Given the description of an element on the screen output the (x, y) to click on. 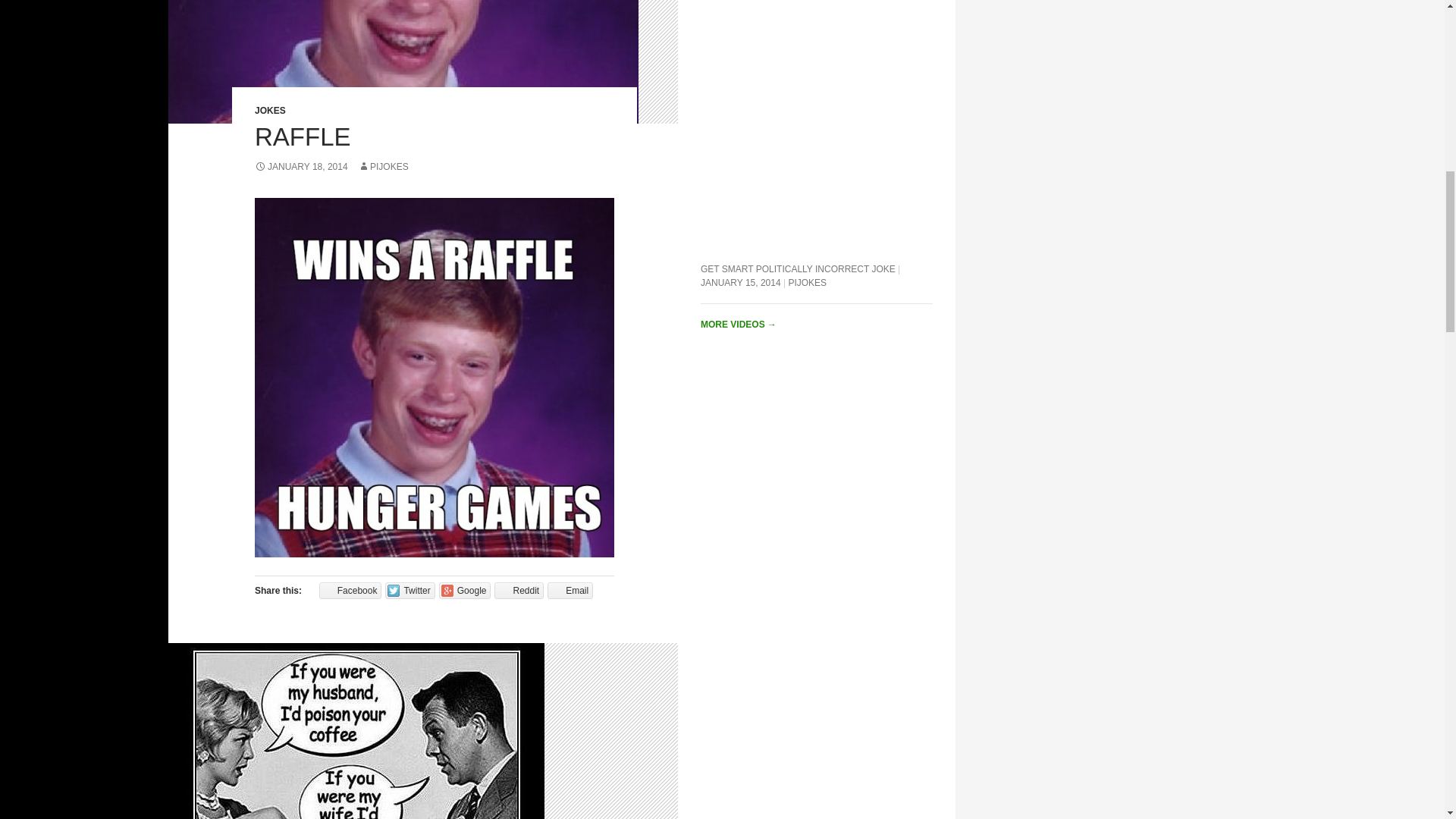
JOKES (269, 110)
Sign me up! (1349, 198)
Click to email this to a friend (569, 590)
View all posts in Jokes (269, 110)
Google (465, 590)
Click to share on Twitter (409, 590)
Twitter (409, 590)
Facebook (349, 590)
JANUARY 18, 2014 (300, 166)
Email (569, 590)
RAFFLE (302, 136)
Share on Facebook (349, 590)
Click to share on Reddit (519, 590)
Enter email address (1346, 170)
PIJOKES (383, 166)
